Given the description of an element on the screen output the (x, y) to click on. 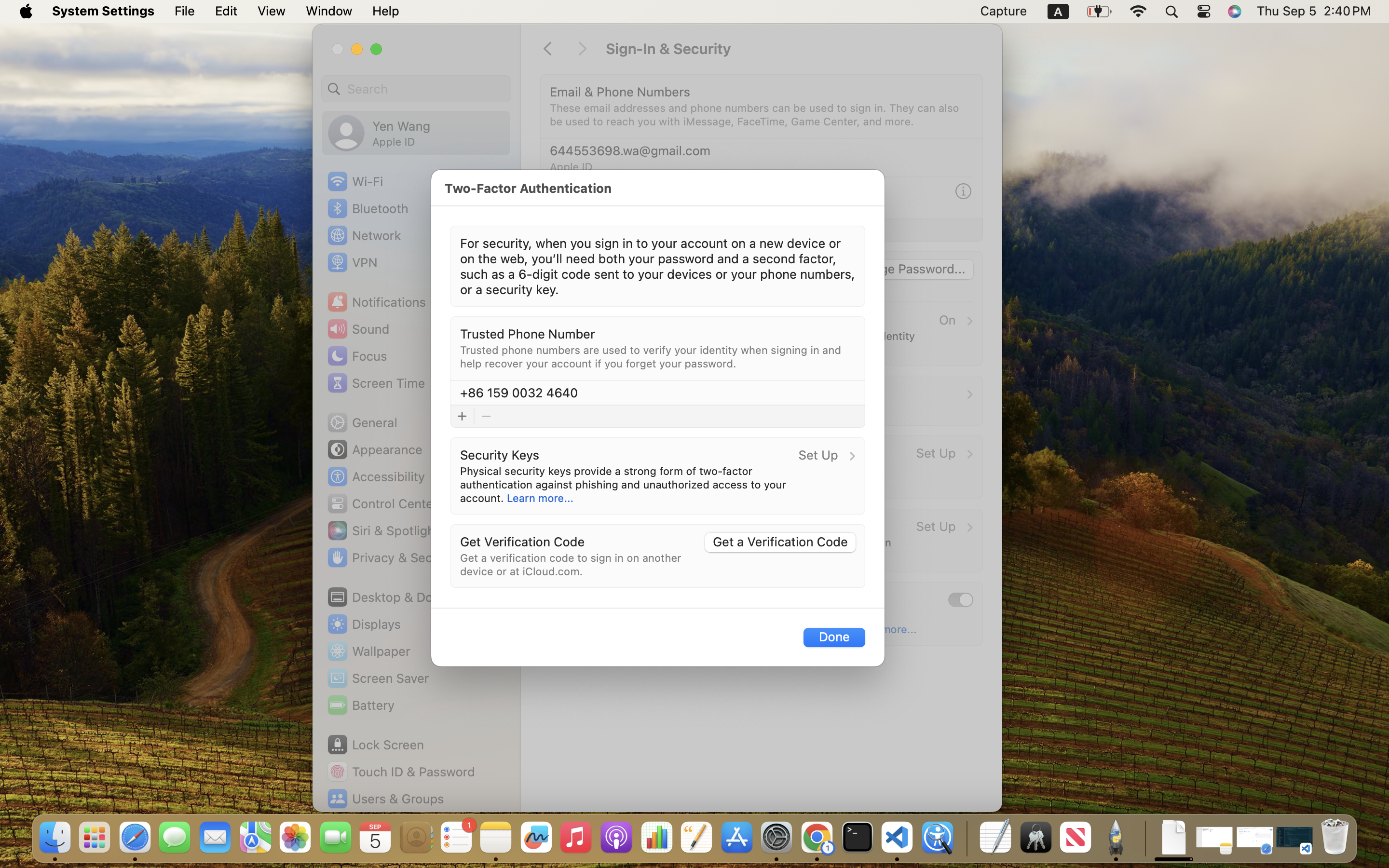
644553698.wa@gmail.com Element type: AXStaticText (629, 150)
Focus Element type: AXStaticText (356, 355)
These email addresses and phone numbers can be used to sign in. They can also be used to reach you with iMessage, FaceTime, Game Center, and more. Element type: AXStaticText (755, 114)
Privacy & Security Element type: AXStaticText (392, 557)
Battery Element type: AXStaticText (360, 704)
